Given the description of an element on the screen output the (x, y) to click on. 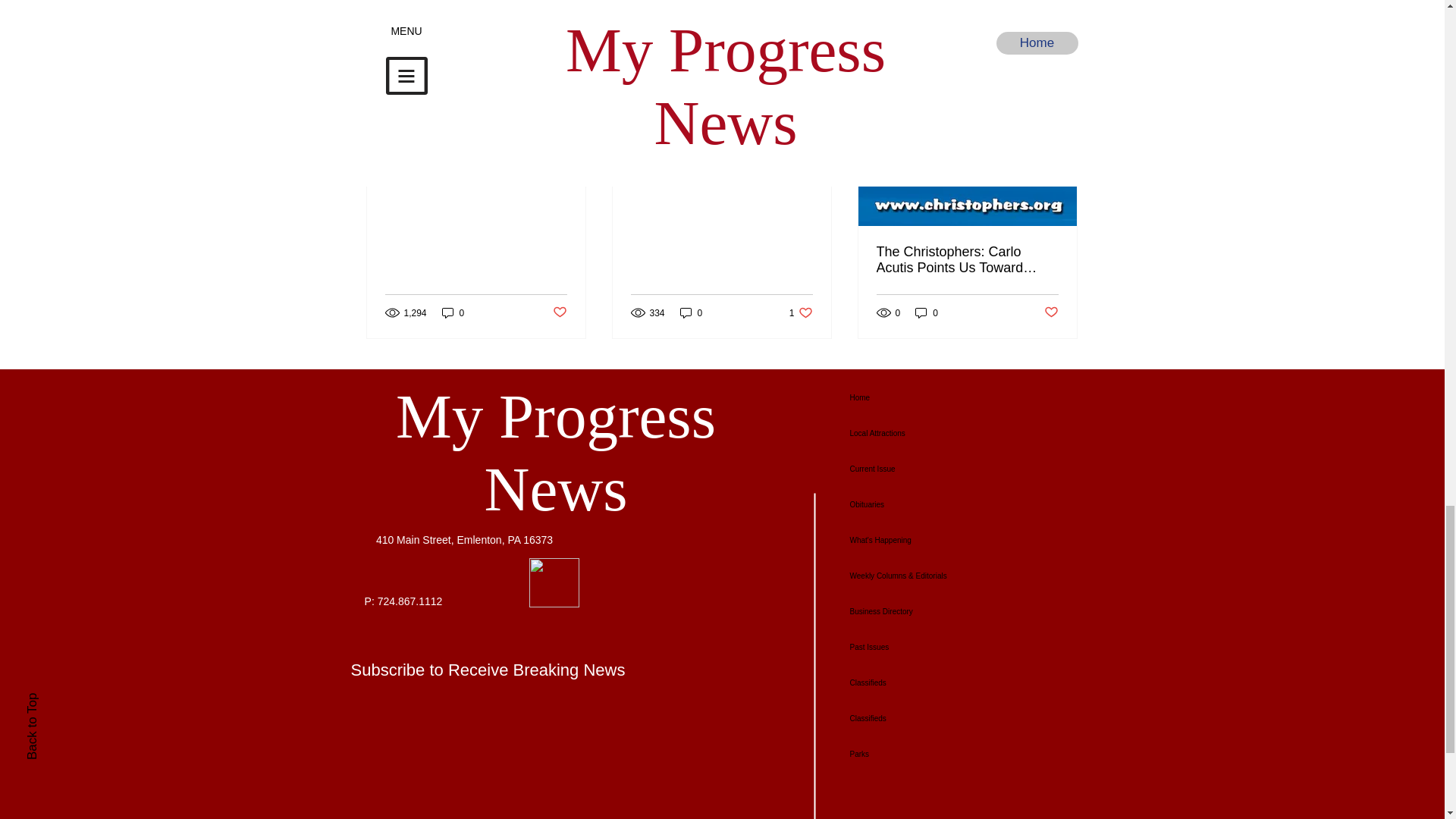
What's Happening (946, 539)
Obituaries (946, 504)
The Christophers: Carlo Acutis Points Us Toward Heaven (967, 260)
Help Wanted: (721, 129)
See All (1061, 75)
0 (926, 312)
0 (691, 312)
Home (946, 397)
Local Attractions (946, 433)
P: 724.867.1112 (403, 601)
Post not marked as liked (1050, 312)
Current Issue (946, 468)
Classifieds (800, 312)
